Given the description of an element on the screen output the (x, y) to click on. 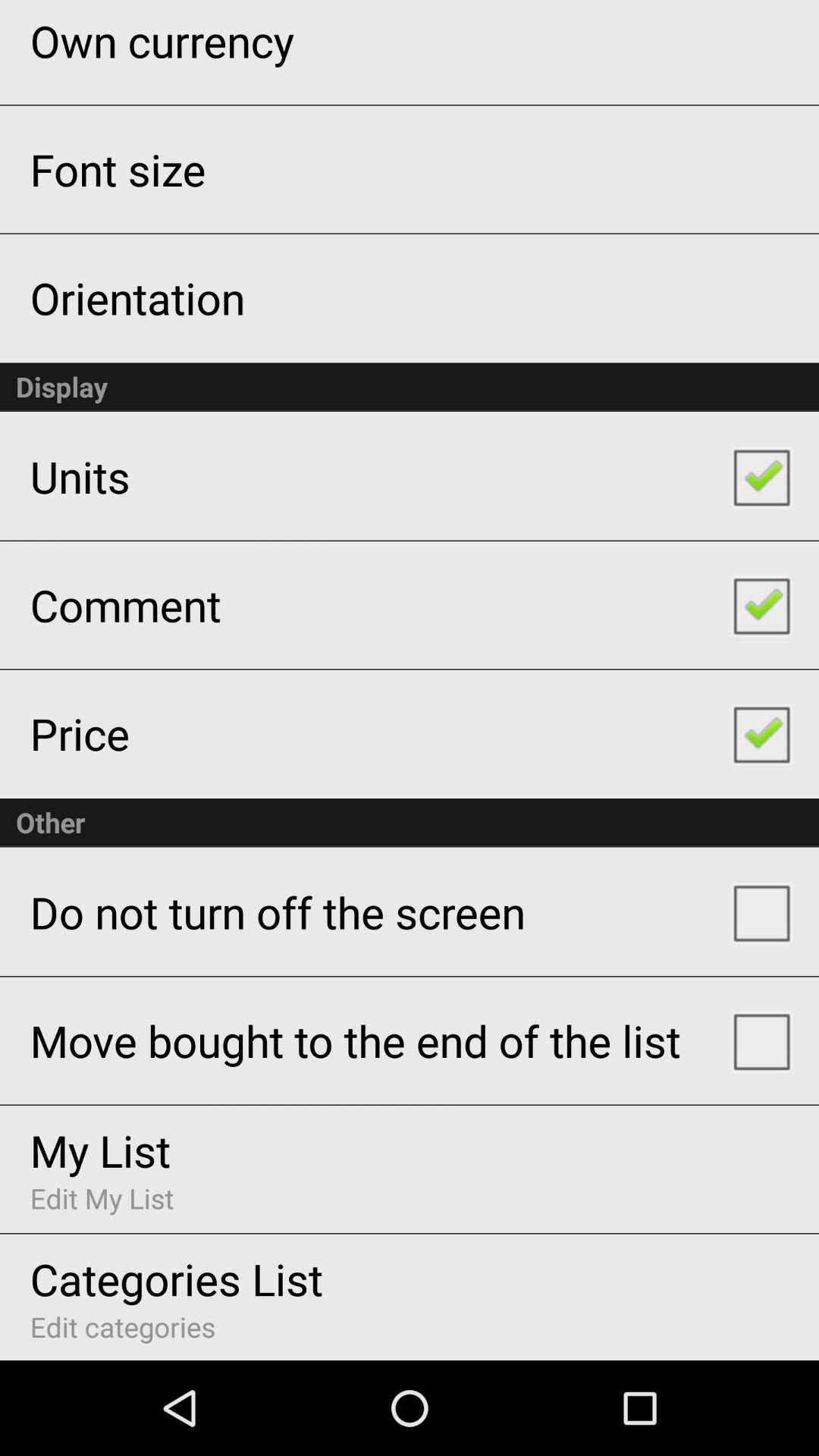
select the app above the move bought to item (277, 911)
